Given the description of an element on the screen output the (x, y) to click on. 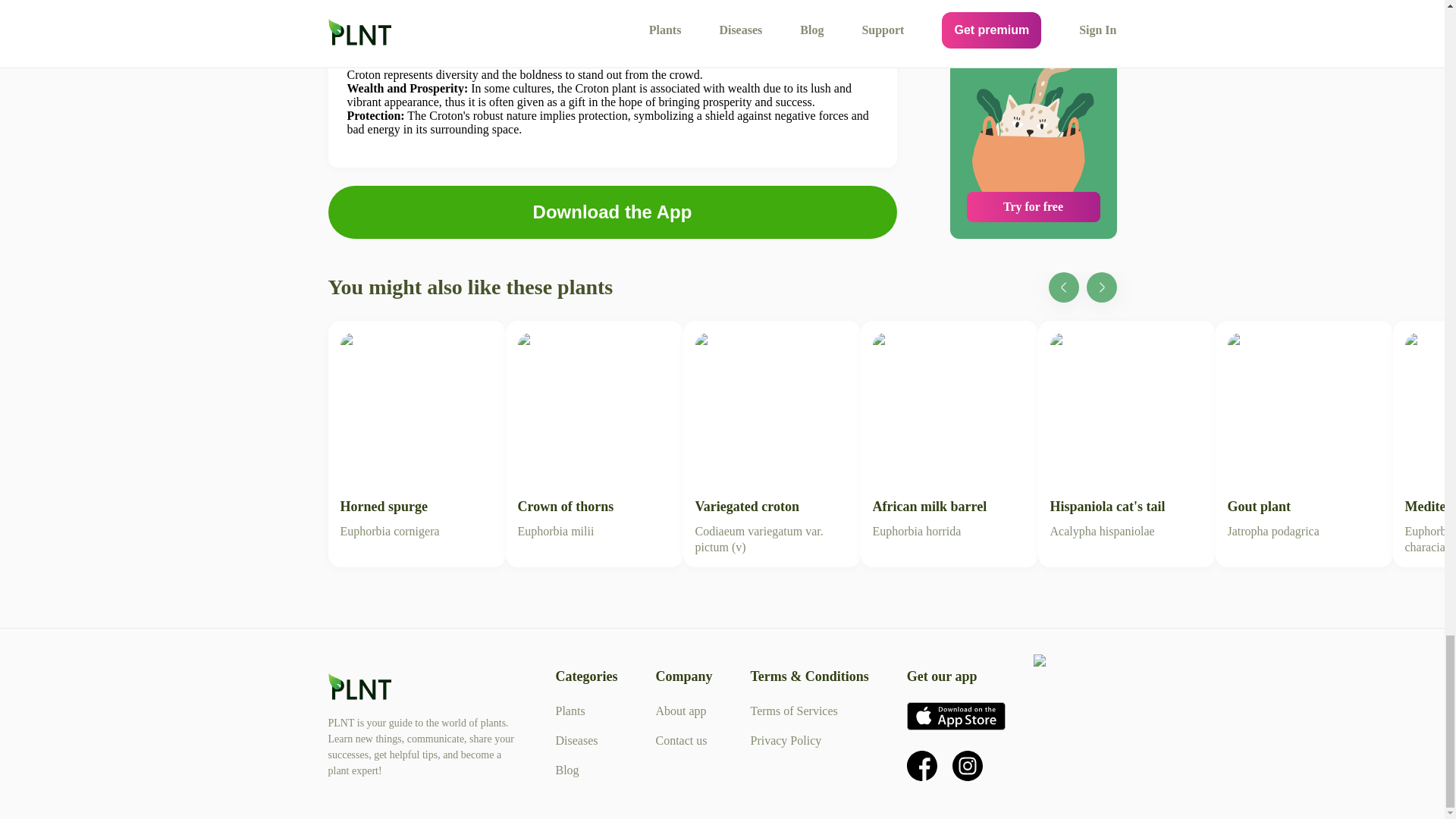
Terms of Services (793, 710)
Contact us (1302, 436)
About app (680, 739)
Blog (680, 710)
Plants (566, 769)
Download the App (569, 710)
Download the App (593, 436)
Diseases (611, 212)
Privacy Policy (1125, 436)
